Given the description of an element on the screen output the (x, y) to click on. 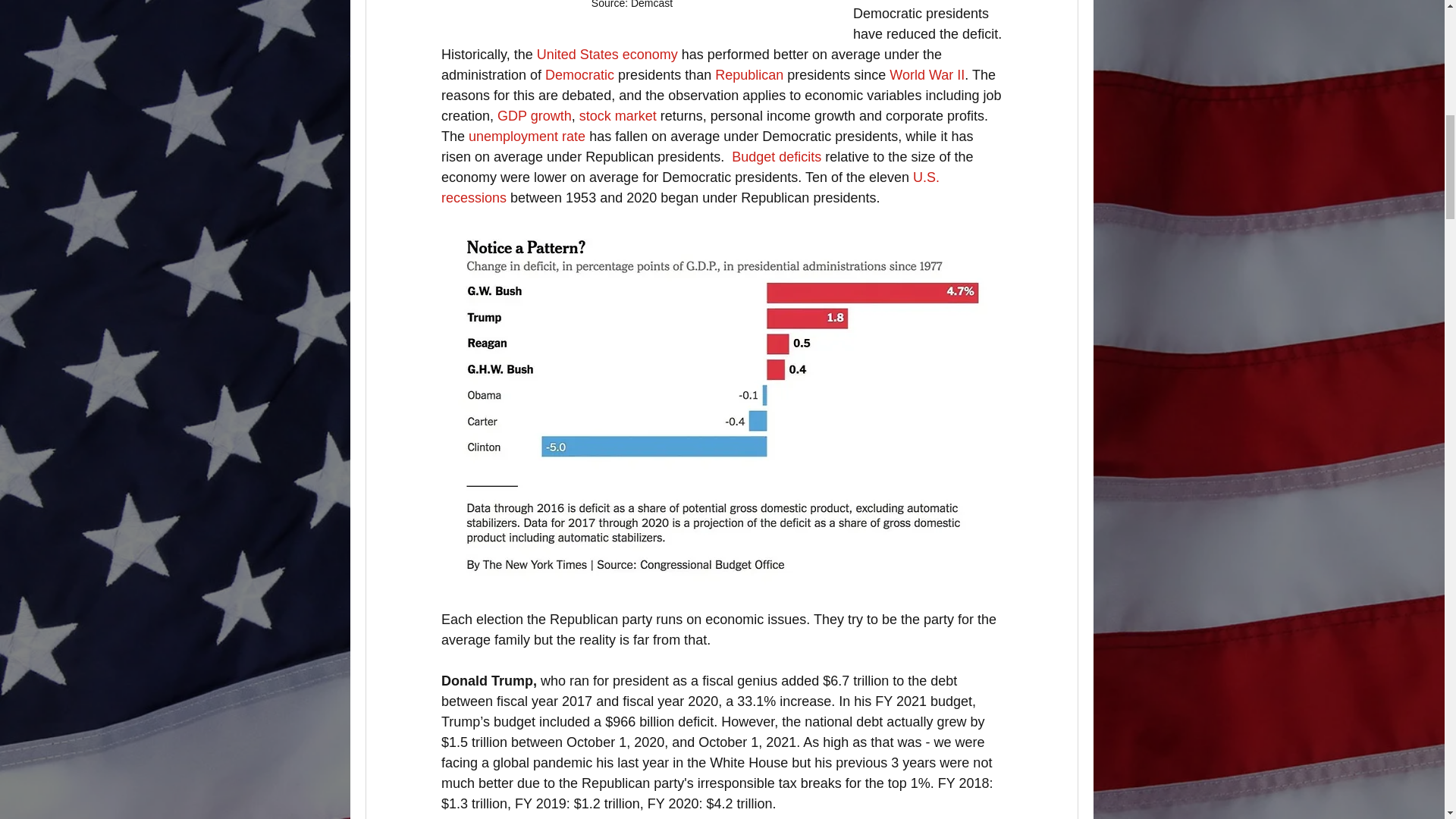
World War II (926, 74)
United States economy (606, 54)
Republican (748, 74)
GDP growth (534, 115)
unemployment rate (526, 136)
Democratic (579, 74)
U.S. recessions (692, 187)
Budget deficits (776, 156)
stock market (617, 115)
